Given the description of an element on the screen output the (x, y) to click on. 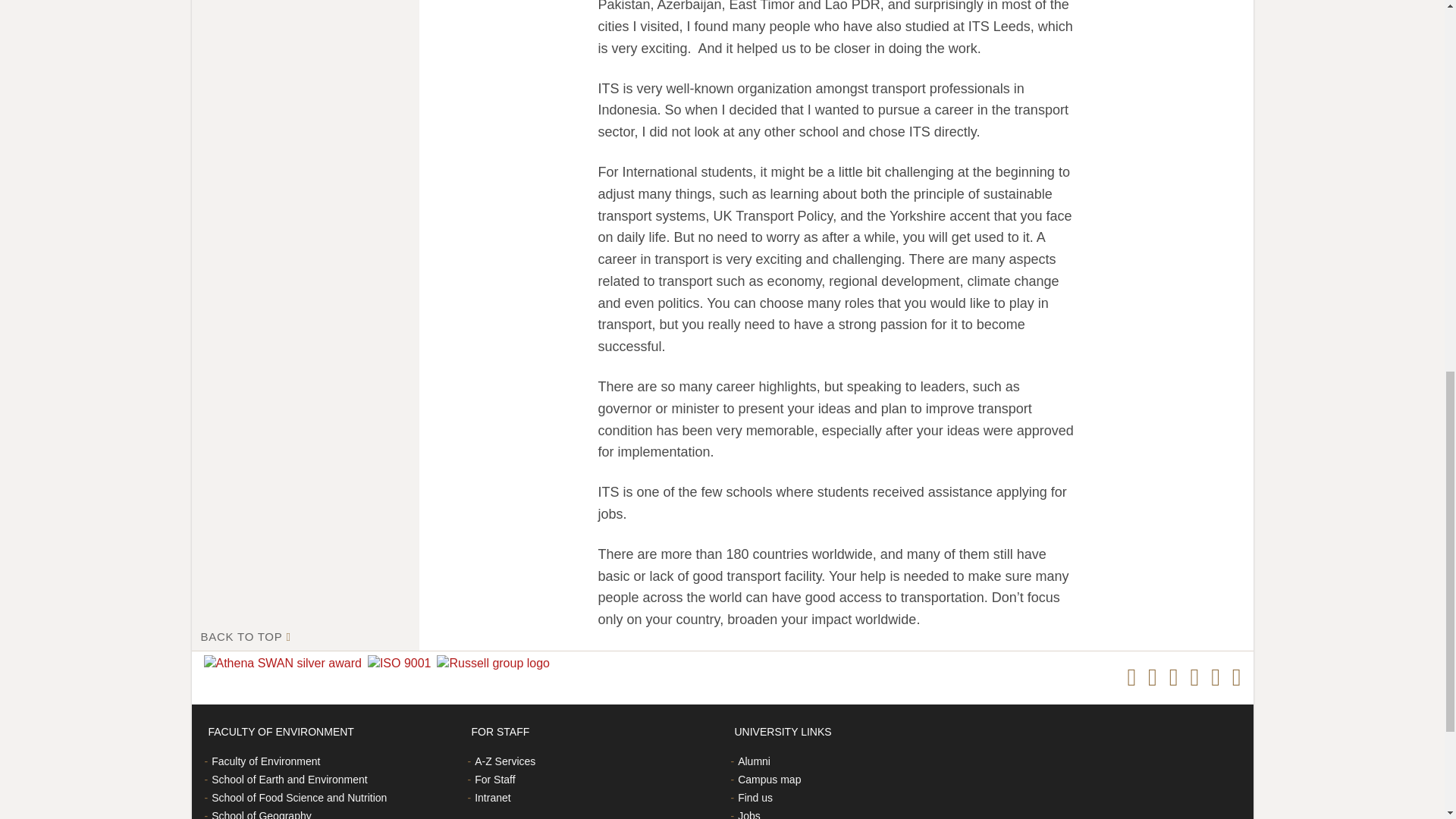
Visit Athena SWAN Silver award (284, 663)
Visit Russell Group (496, 663)
Visit ISO 9001 (403, 663)
